Given the description of an element on the screen output the (x, y) to click on. 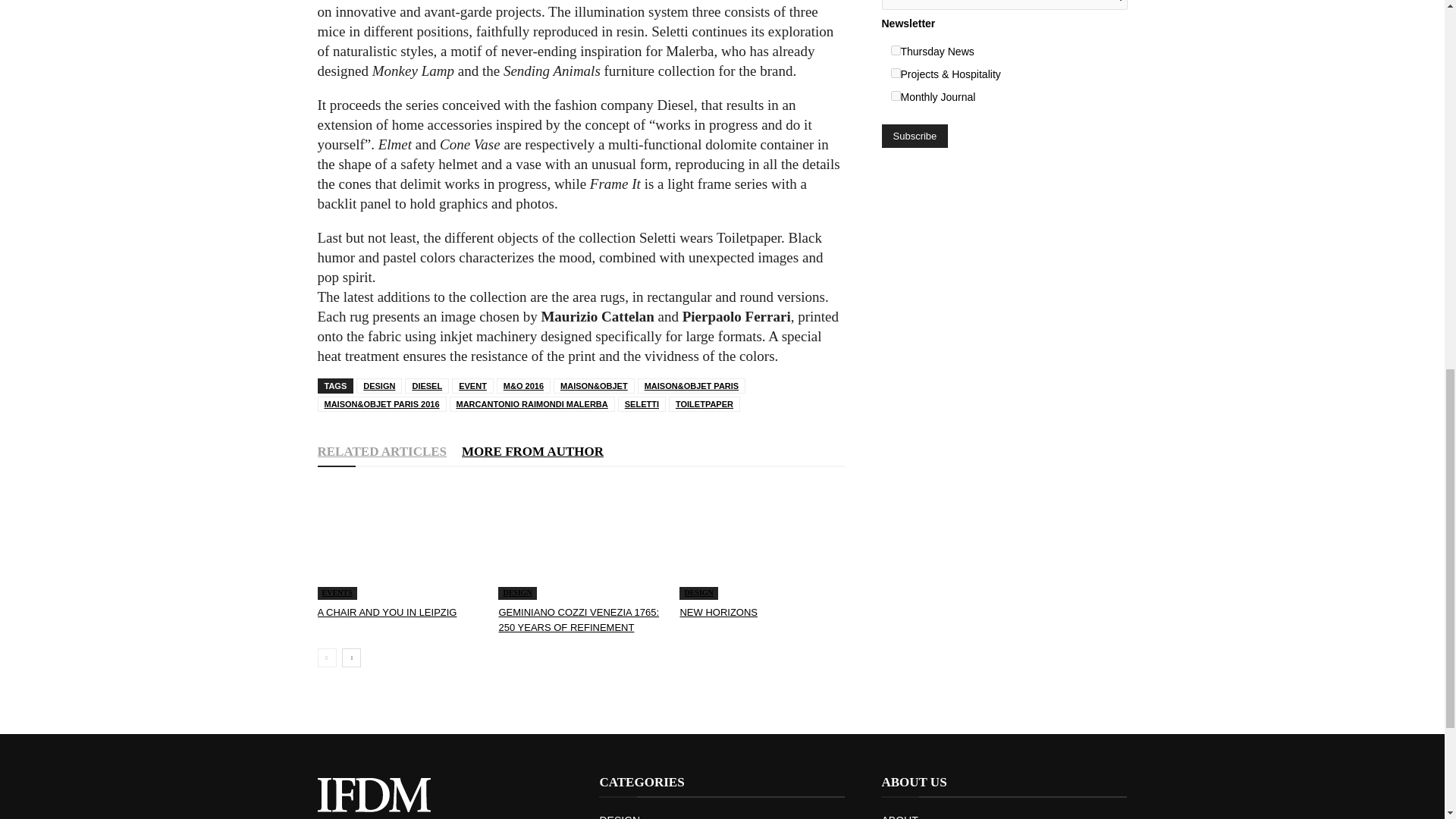
1 (894, 50)
4 (894, 95)
2 (894, 72)
Subscribe (913, 136)
